Given the description of an element on the screen output the (x, y) to click on. 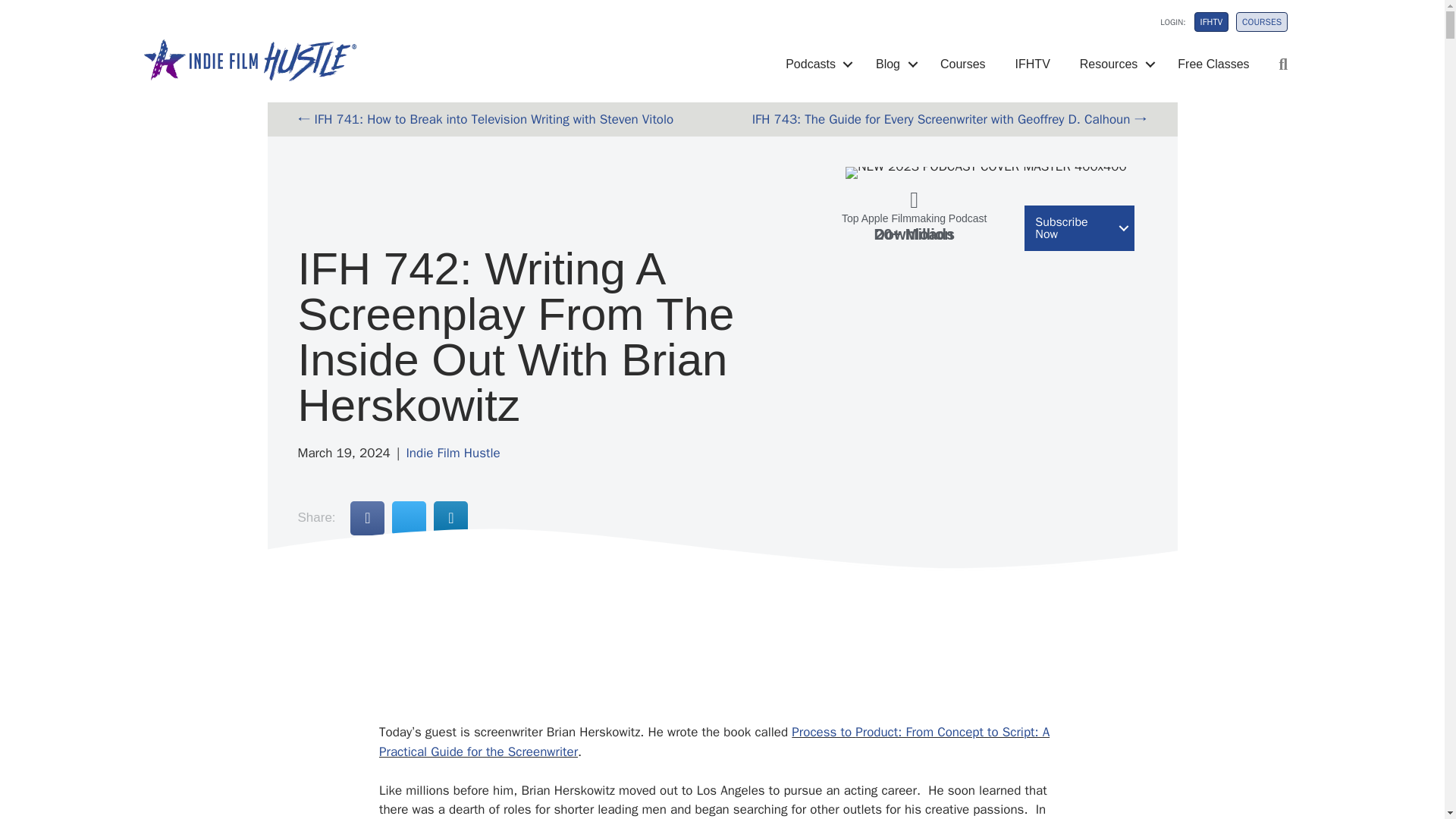
Courses (963, 64)
Indie Film Hustle (452, 453)
COURSES (1261, 21)
LOGIN: (1163, 26)
NEW 2023 PODCAST COVER MASTER 400x400 (985, 173)
Podcasts (815, 64)
Free Classes (1213, 64)
IFHTV (1032, 64)
Resources (1113, 64)
